Given the description of an element on the screen output the (x, y) to click on. 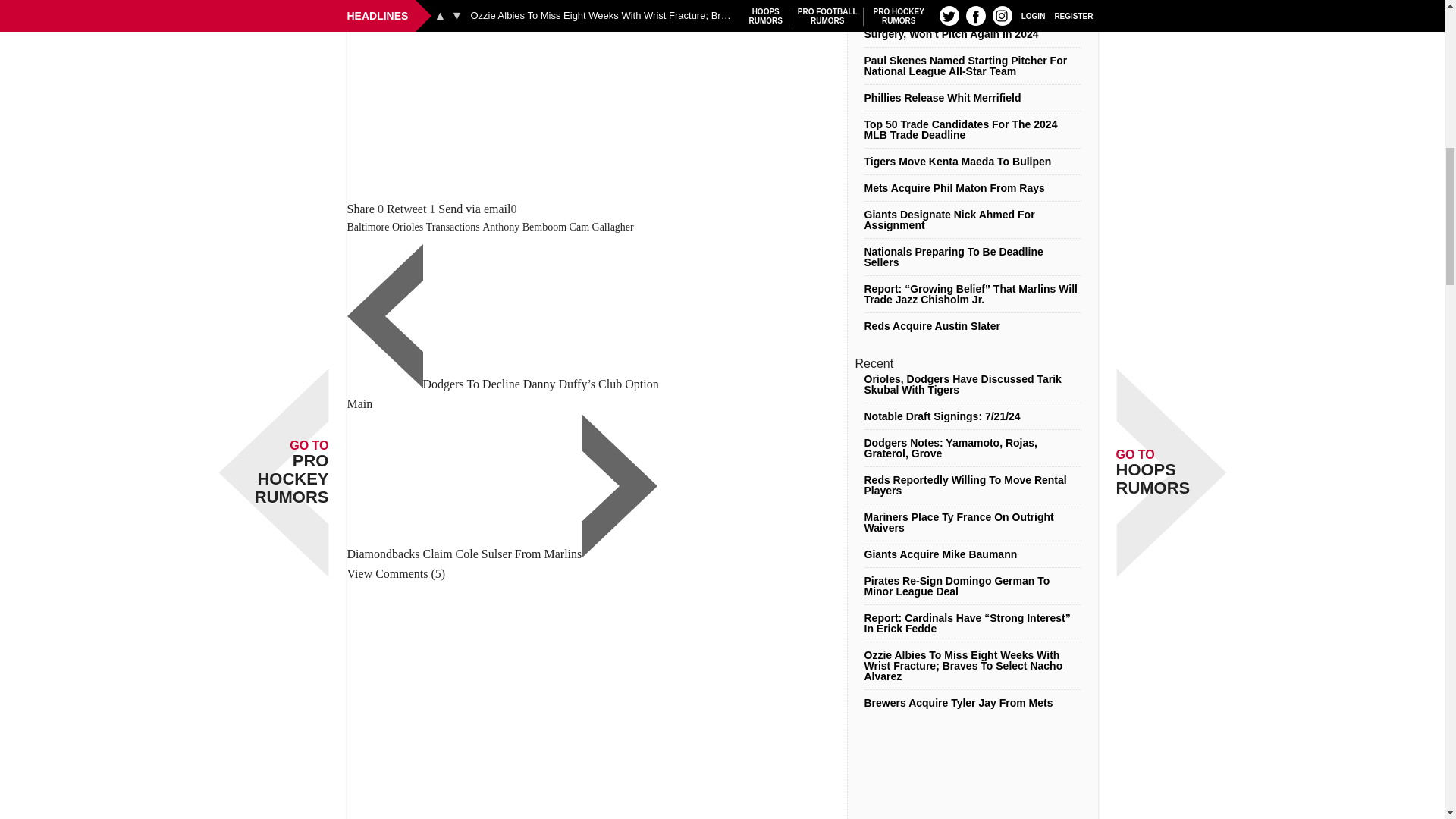
Retweet 'Orioles Outright Cam Gallagher' on Twitter (406, 208)
Send Orioles Outright Cam Gallagher with an email (474, 208)
Share 'Orioles Outright Cam Gallagher' on Facebook (360, 208)
